Given the description of an element on the screen output the (x, y) to click on. 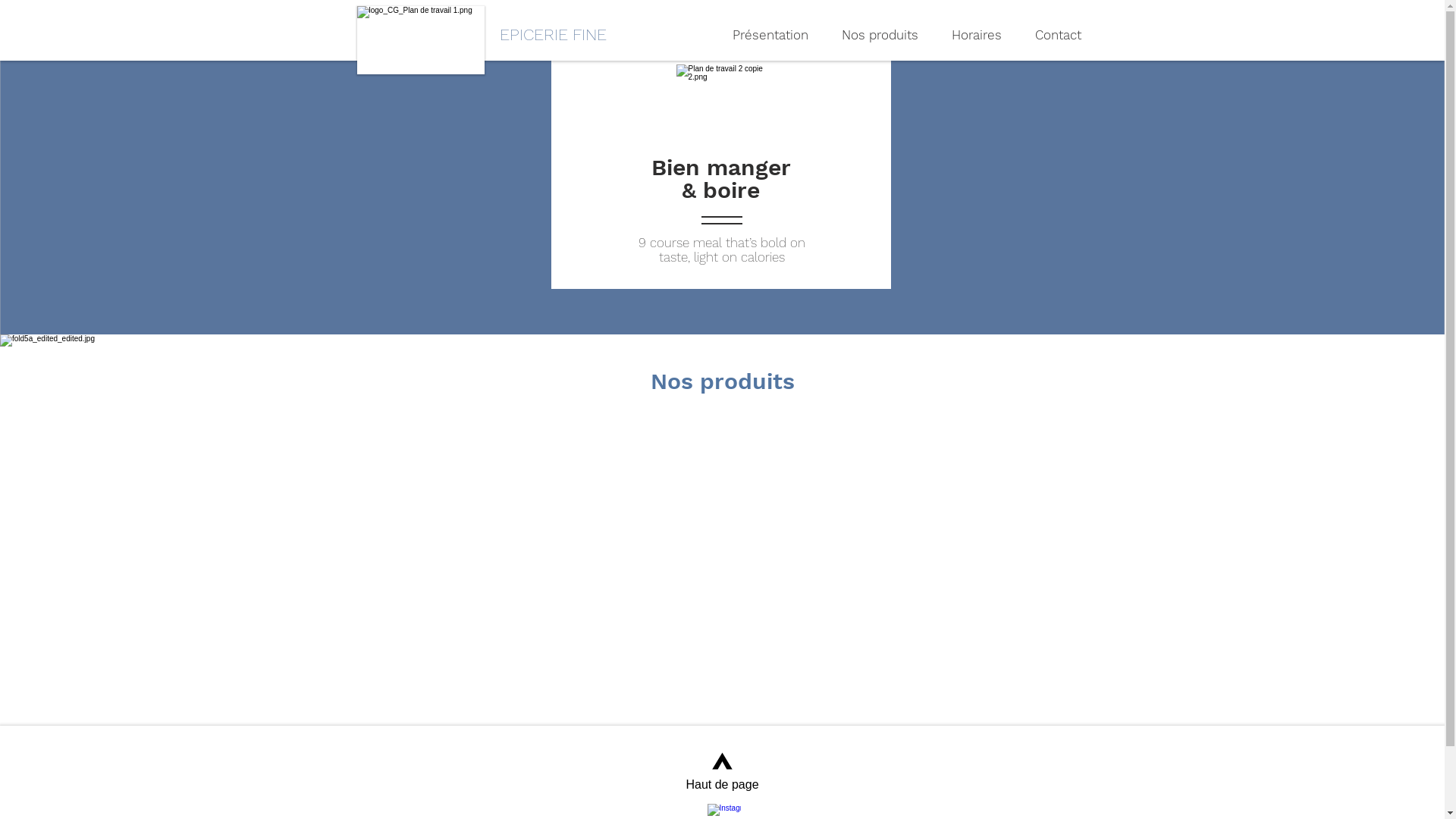
Nos produits Element type: text (875, 34)
Contact Element type: text (1054, 34)
Horaires Element type: text (972, 34)
Haut de page Element type: text (722, 770)
